Given the description of an element on the screen output the (x, y) to click on. 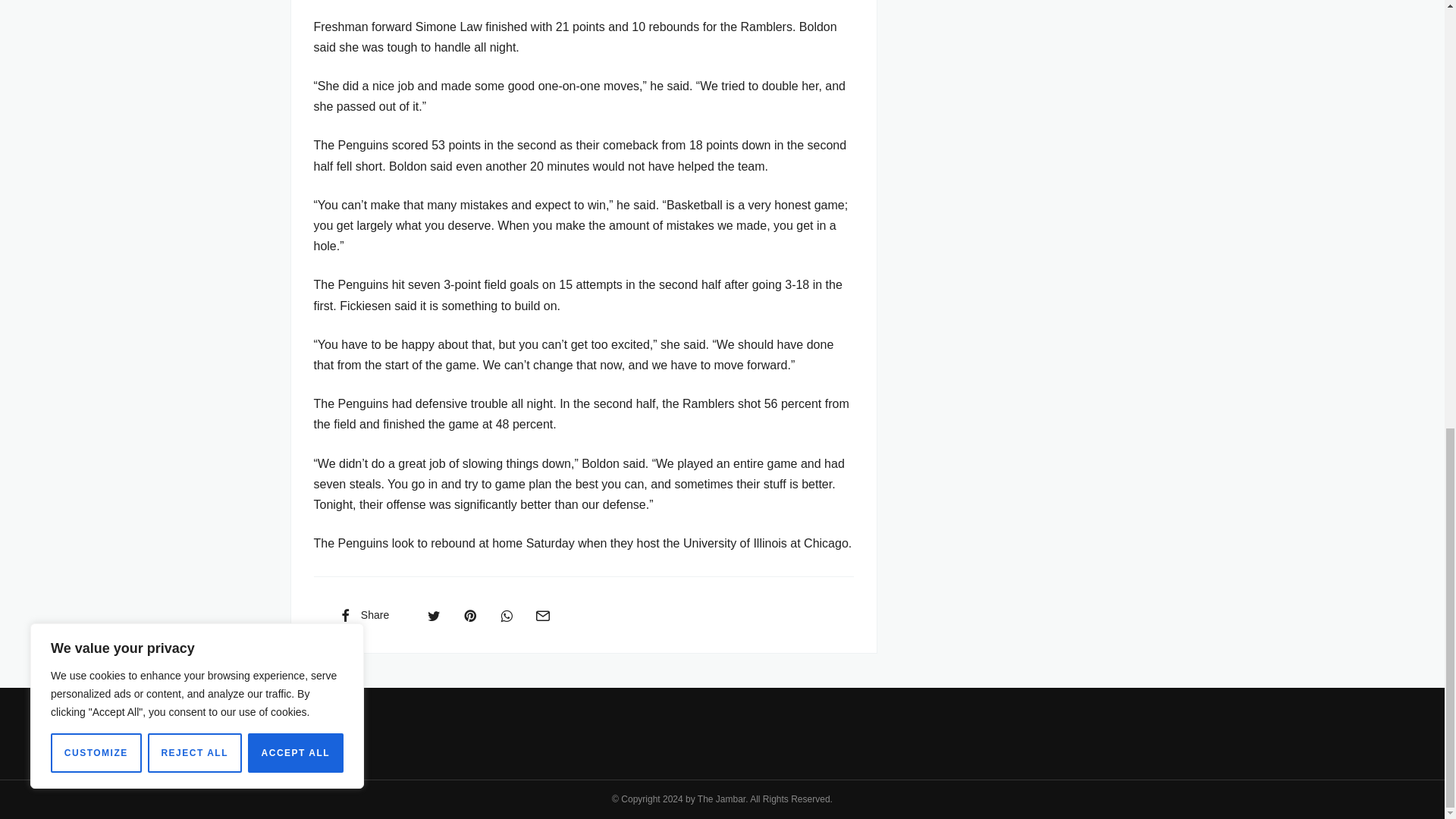
Share on Facebook (363, 614)
Share on Twitter (433, 614)
Pin this Post (469, 614)
Share via Email (542, 614)
Share on Whatsapp (506, 614)
